Given the description of an element on the screen output the (x, y) to click on. 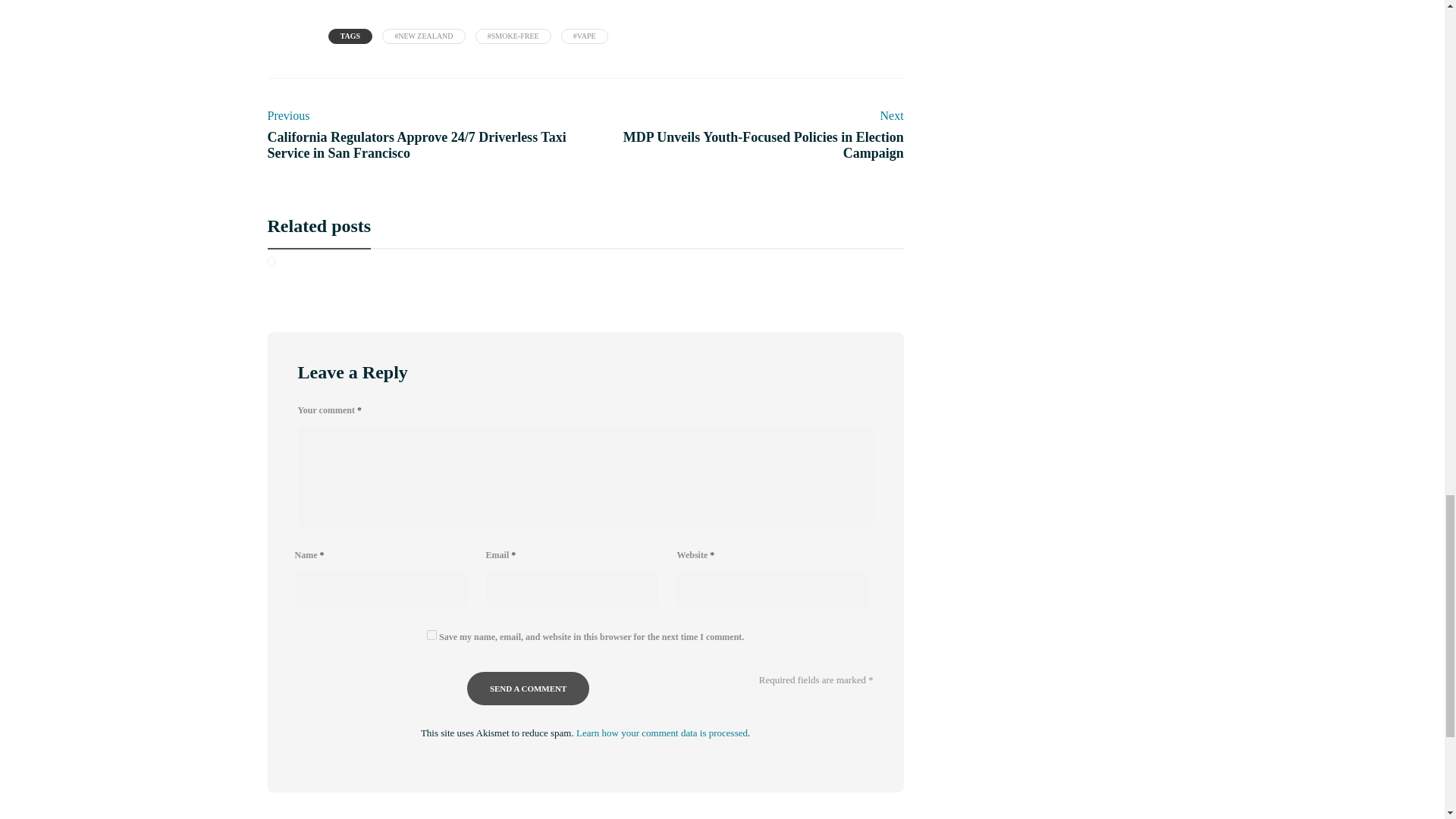
Send a comment (528, 688)
TAGS (349, 36)
yes (747, 133)
